Given the description of an element on the screen output the (x, y) to click on. 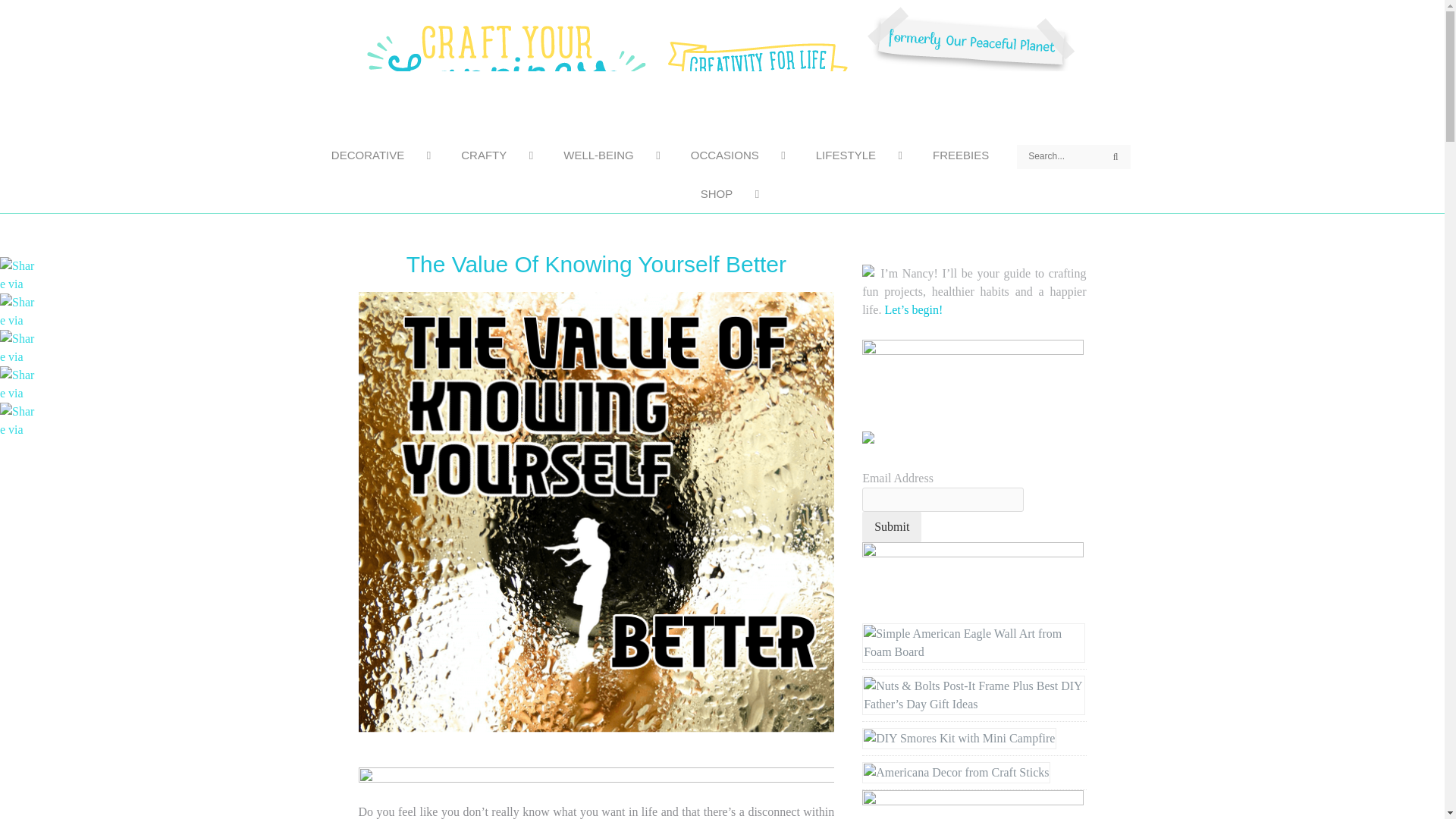
Share via Facebook (18, 309)
CRAFTY (489, 154)
Share via Twitter (18, 346)
Share via Google (18, 382)
!DONATE (972, 384)
Share via Email (18, 419)
Share via Pinterest (18, 273)
DECORATIVE (373, 154)
